Given the description of an element on the screen output the (x, y) to click on. 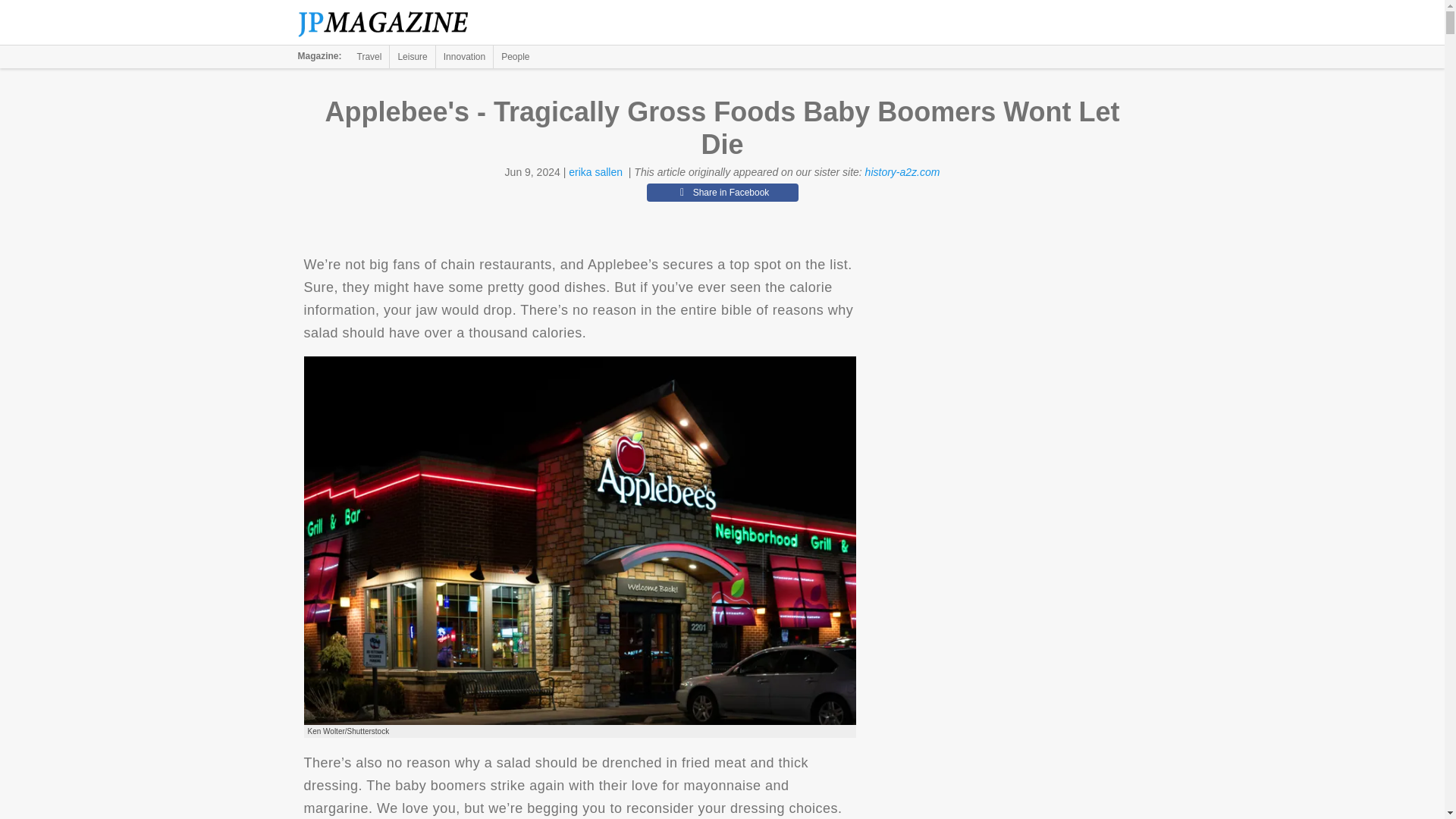
Innovation (464, 56)
Travel (369, 56)
Leisure (411, 56)
Share in Facebook (721, 192)
People (515, 56)
erika sallen (596, 172)
history-a2z.com (902, 172)
The Jerusalem Post Magazine (391, 22)
